Given the description of an element on the screen output the (x, y) to click on. 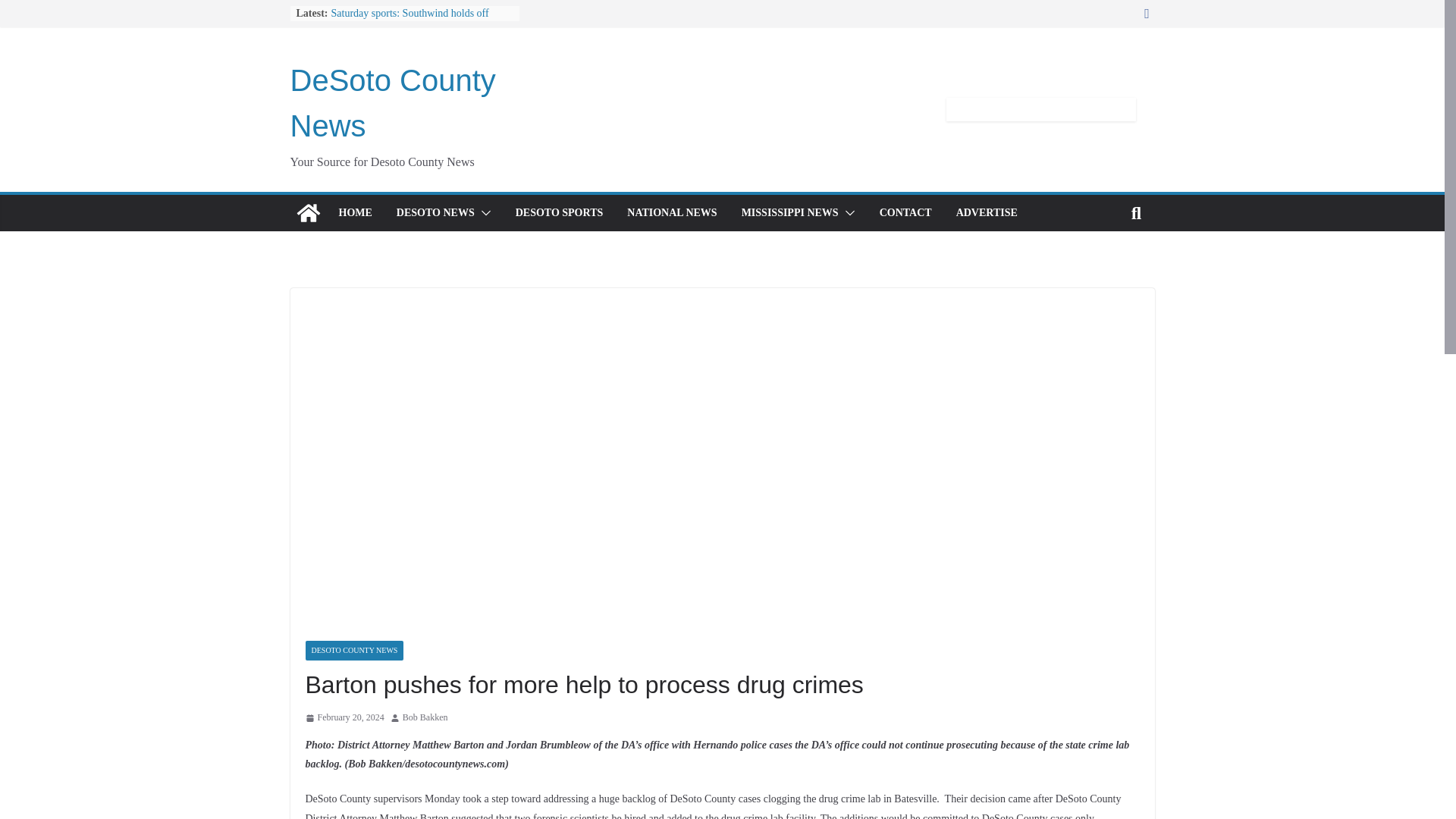
ADVERTISE (986, 212)
CONTACT (905, 212)
HOME (354, 212)
DESOTO NEWS (435, 212)
MISSISSIPPI NEWS (789, 212)
February 20, 2024 (344, 718)
11:48 pm (344, 718)
DeSoto County News (392, 102)
DESOTO COUNTY NEWS (353, 650)
NATIONAL NEWS (671, 212)
